Given the description of an element on the screen output the (x, y) to click on. 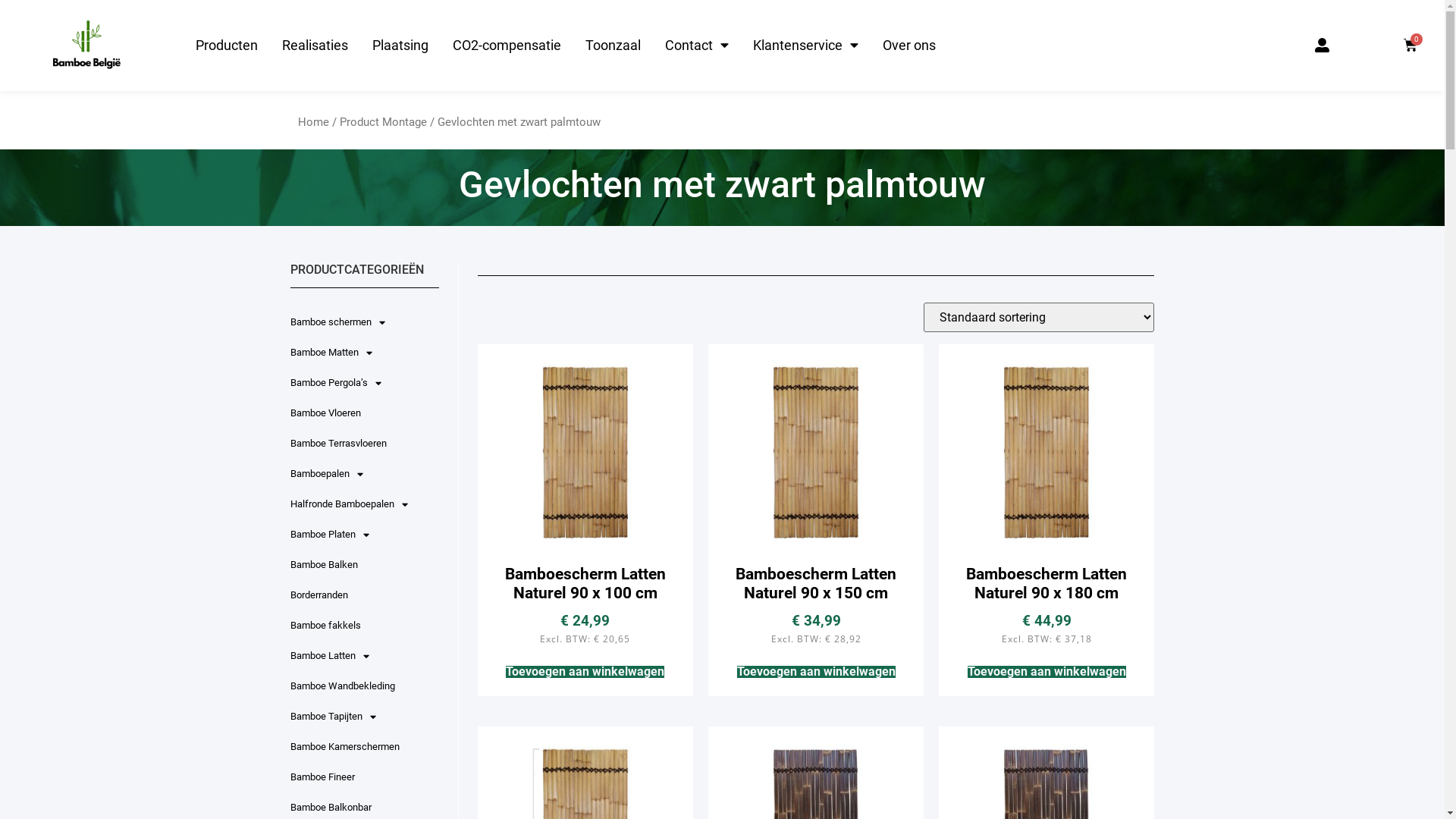
Toevoegen aan winkelwagen Element type: text (584, 671)
Bamboe Vloeren Element type: text (363, 413)
Halfronde Bamboepalen Element type: text (363, 504)
Over ons Element type: text (908, 45)
Borderranden Element type: text (363, 595)
CO2-compensatie Element type: text (506, 45)
Bamboe Latten Element type: text (363, 655)
Bamboe Platen Element type: text (363, 534)
Bamboe Fineer Element type: text (363, 777)
Toevoegen aan winkelwagen Element type: text (1046, 671)
Bamboe Terrasvloeren Element type: text (363, 443)
Bamboe Tapijten Element type: text (363, 716)
Home Element type: text (312, 121)
Bamboe fakkels Element type: text (363, 625)
Klantenservice Element type: text (805, 45)
Bamboe Wandbekleding Element type: text (363, 686)
Bamboe schermen Element type: text (363, 322)
Bamboe Kamerschermen Element type: text (363, 746)
Producten Element type: text (226, 45)
Plaatsing Element type: text (400, 45)
Contact Element type: text (696, 45)
Toonzaal Element type: text (612, 45)
Bamboe Matten Element type: text (363, 352)
Toevoegen aan winkelwagen Element type: text (816, 671)
Realisaties Element type: text (314, 45)
Bamboe Balken Element type: text (363, 564)
Bamboepalen Element type: text (363, 473)
0 Element type: text (1410, 45)
